Given the description of an element on the screen output the (x, y) to click on. 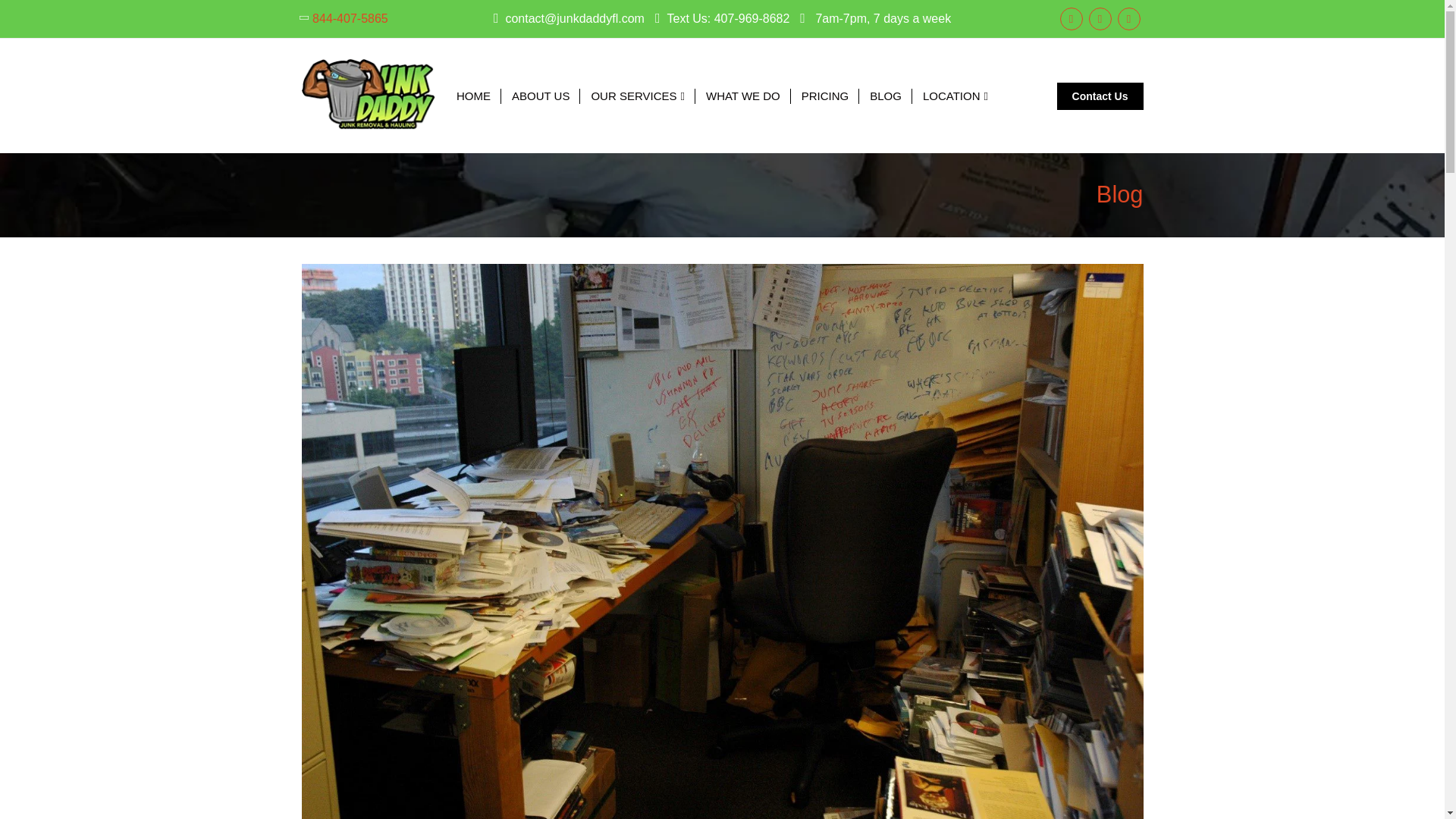
OUR SERVICES (637, 96)
LOCATION (954, 96)
844-407-5865 (350, 18)
PRICING (826, 96)
Junk Daddy Florida - Junk Removal and Hauling (368, 95)
WHAT WE DO (742, 96)
BLOG (886, 96)
HOME (473, 96)
ABOUT US (540, 96)
